Given the description of an element on the screen output the (x, y) to click on. 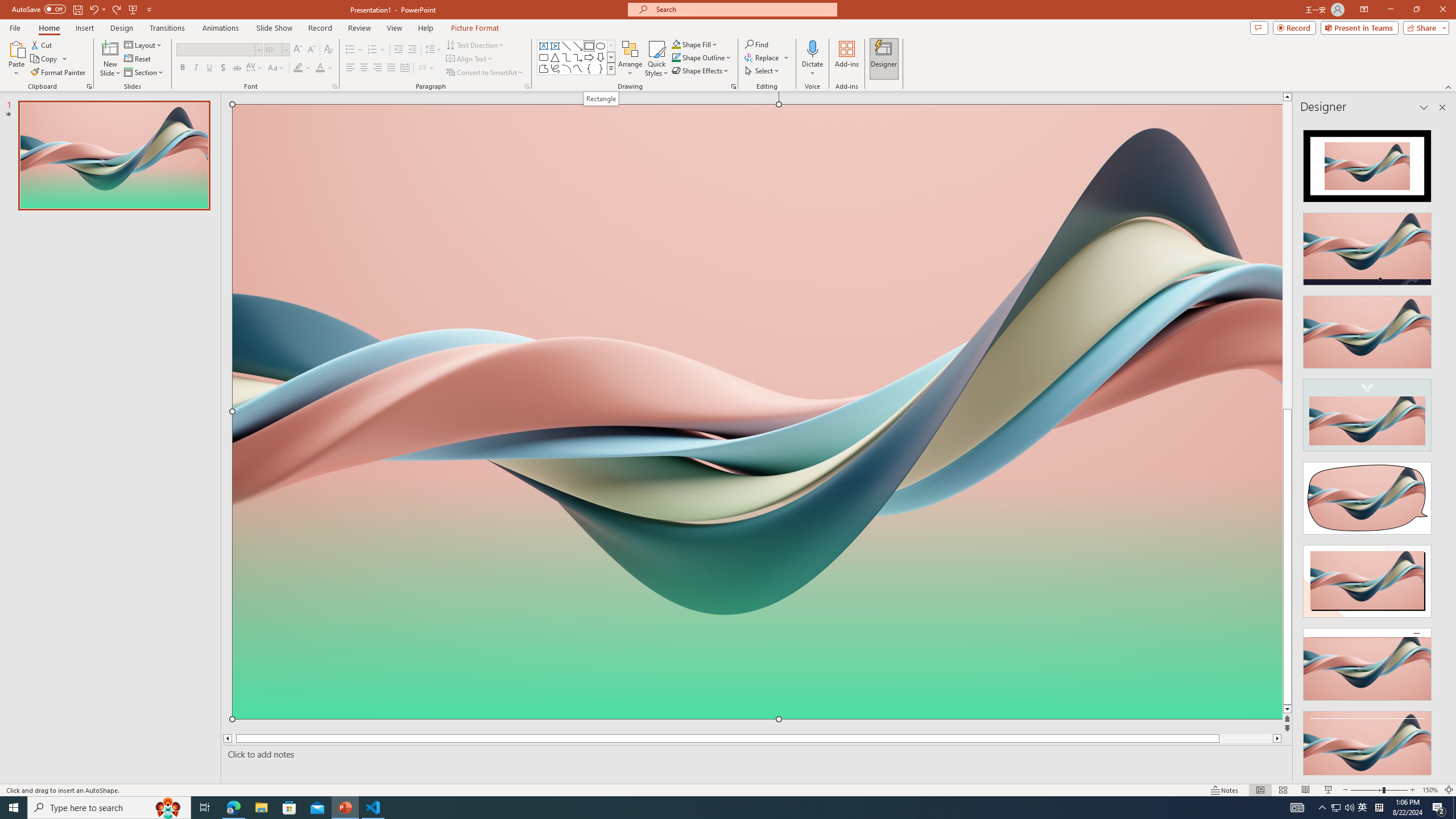
Zoom 150% (1430, 790)
